Given the description of an element on the screen output the (x, y) to click on. 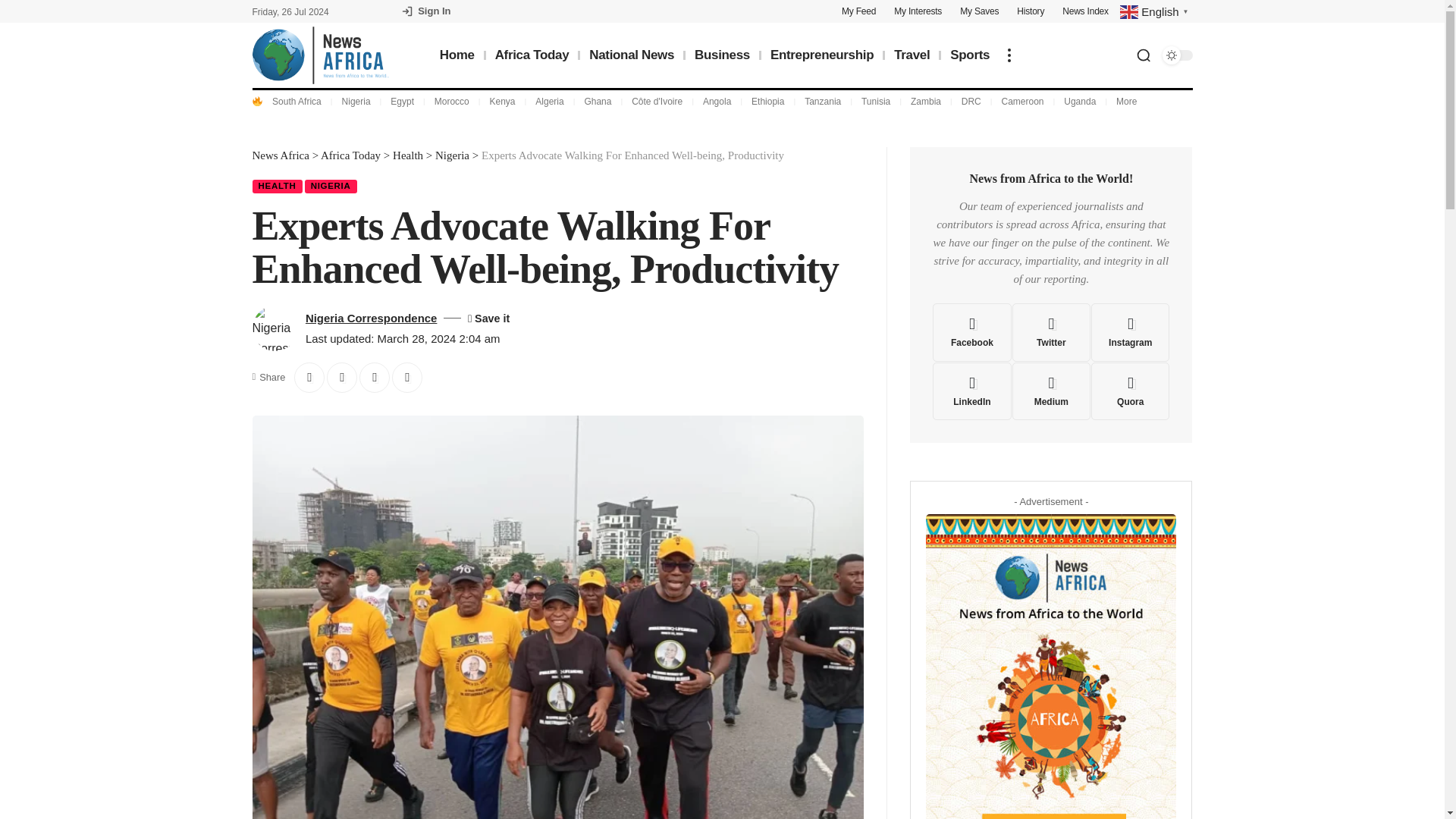
Go to News Africa. (279, 155)
Go to Africa Today. (350, 155)
News Index (1085, 11)
My Interests (917, 11)
My Saves (978, 11)
My Feed (858, 11)
History (1029, 11)
Go to the Health Category archives. (408, 155)
Sign In (426, 11)
Go to the Nigeria Category archives. (451, 155)
Home (456, 54)
